Given the description of an element on the screen output the (x, y) to click on. 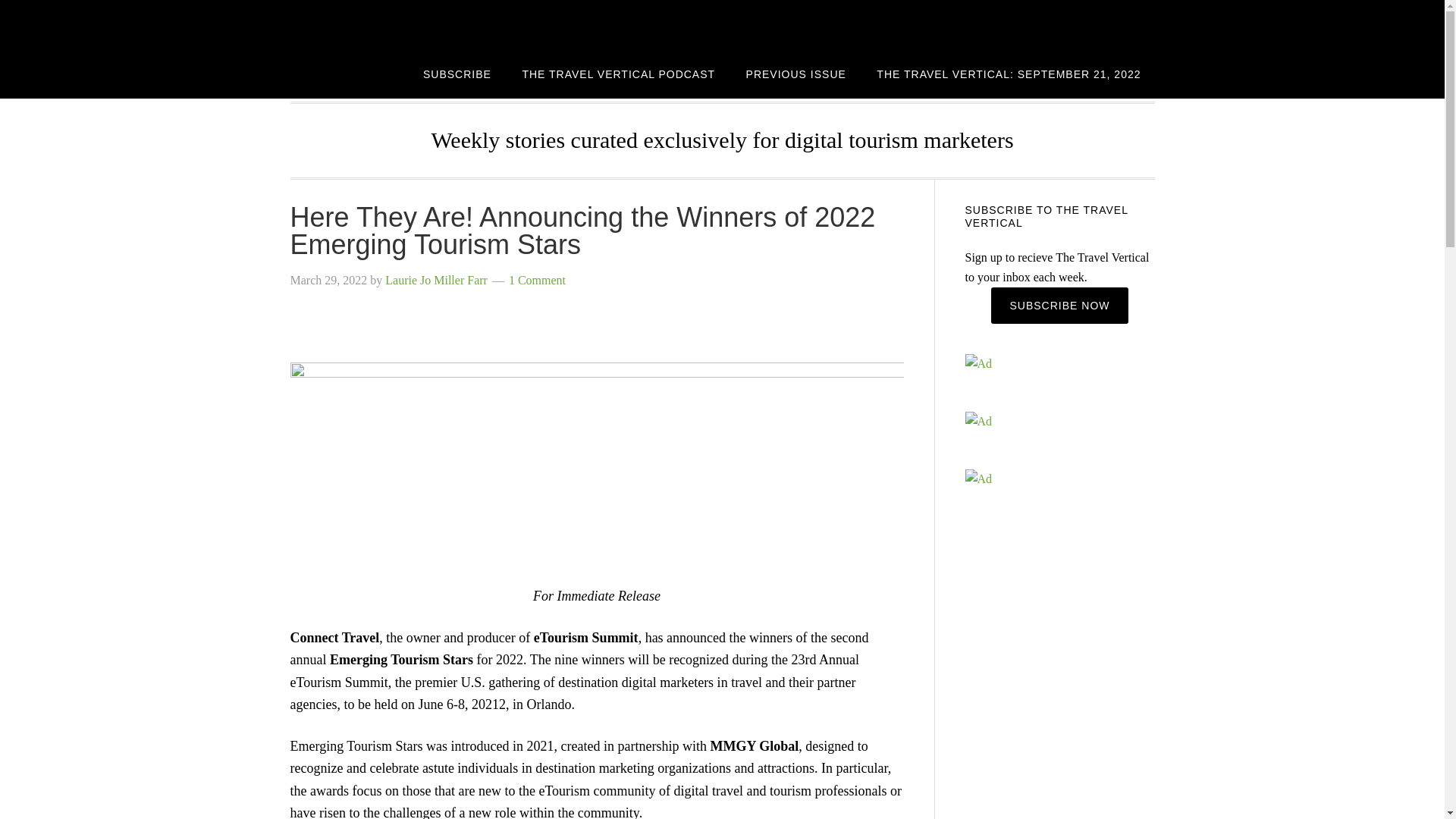
SUBSCRIBE (457, 73)
THE TRAVEL VERTICAL (410, 24)
Subscribe Now (1058, 305)
Laurie Jo Miller Farr (436, 279)
Subscribe Now (1058, 305)
PREVIOUS ISSUE (796, 73)
THE TRAVEL VERTICAL PODCAST (618, 73)
1 Comment (537, 279)
THE TRAVEL VERTICAL: SEPTEMBER 21, 2022 (1008, 73)
